Given the description of an element on the screen output the (x, y) to click on. 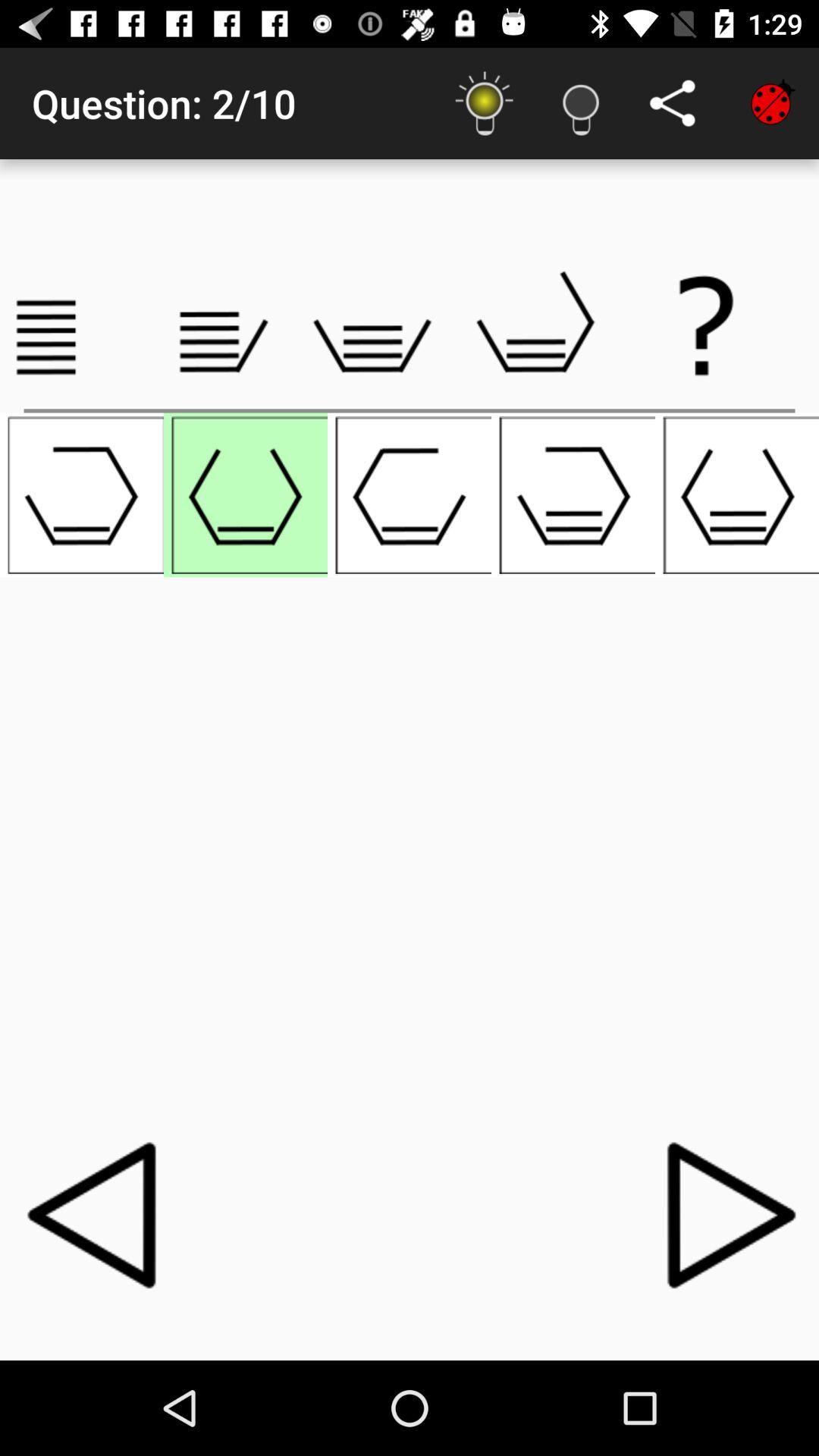
turn off icon at the bottom right corner (723, 1213)
